Given the description of an element on the screen output the (x, y) to click on. 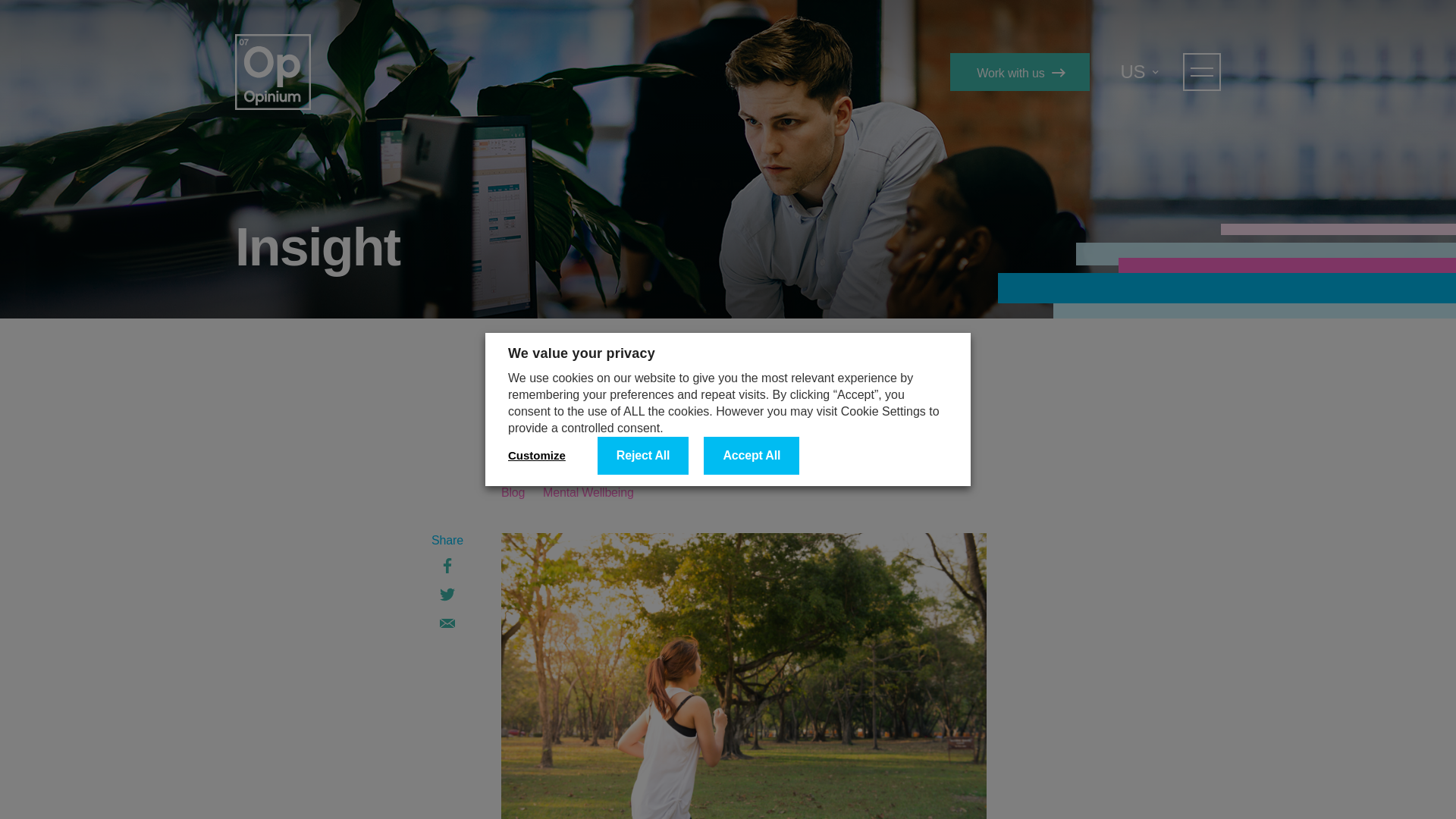
US (1139, 71)
Insight (533, 374)
Work with us (1019, 71)
